Given the description of an element on the screen output the (x, y) to click on. 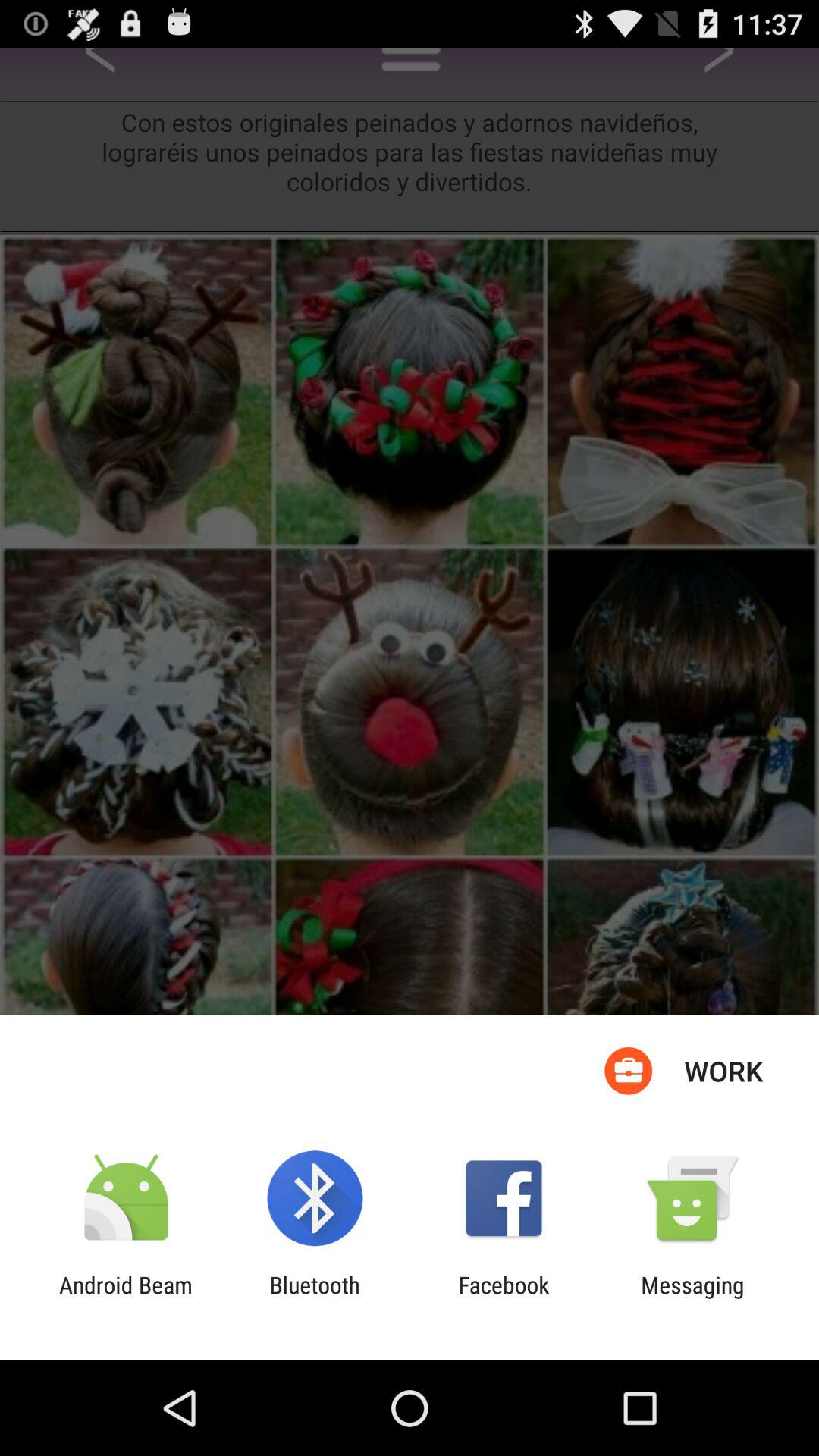
click the item next to the messaging app (503, 1298)
